Given the description of an element on the screen output the (x, y) to click on. 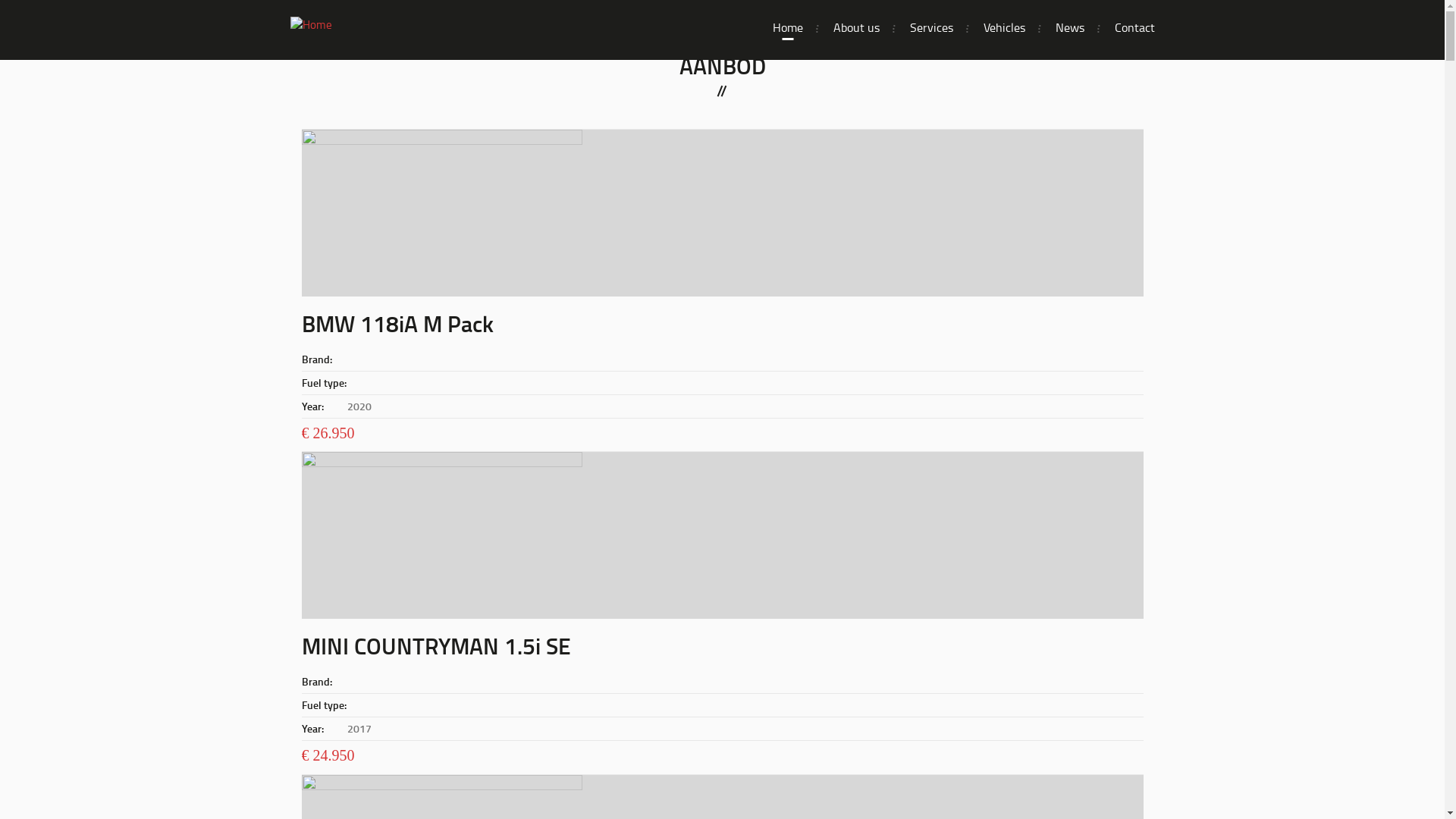
Services Element type: text (931, 27)
Vehicles Element type: text (1003, 27)
Skip to main content Element type: text (0, 0)
Contact Element type: text (1134, 27)
Home Element type: text (786, 27)
About us Element type: text (855, 27)
BMW 118iA M Pack Element type: text (397, 323)
MINI COUNTRYMAN 1.5i SE Element type: text (436, 645)
News Element type: text (1069, 27)
